Given the description of an element on the screen output the (x, y) to click on. 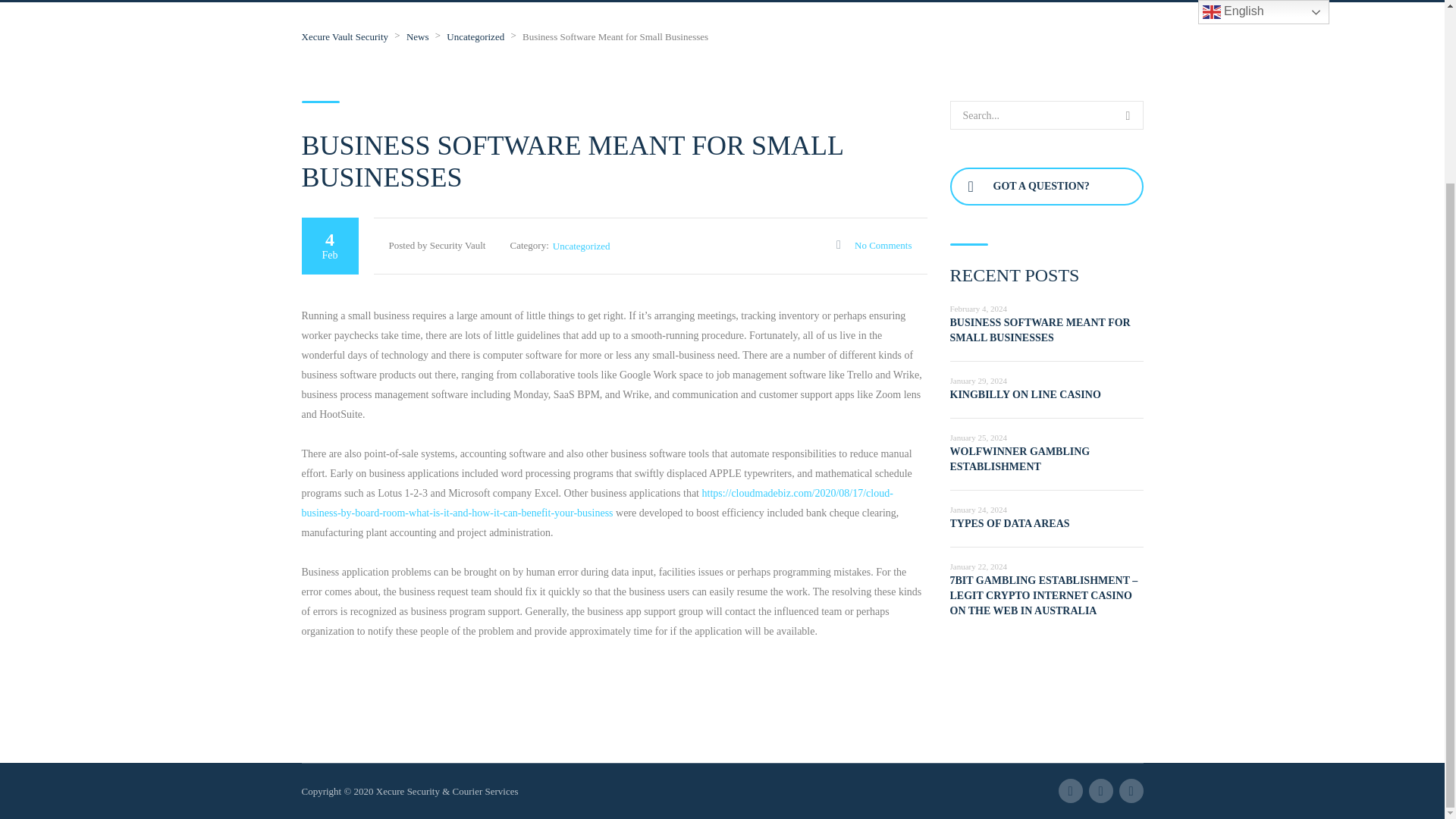
No Comments (873, 244)
KINGBILLY ON LINE CASINO (1024, 394)
Xecure Vault Security (344, 36)
Go to Xecure Vault Security. (344, 36)
TYPES OF DATA AREAS (1008, 523)
News (417, 36)
BUSINESS SOFTWARE MEANT FOR SMALL BUSINESSES (1039, 329)
GOT A QUESTION? (1045, 186)
Uncategorized (474, 36)
Go to the Uncategorized Category archives. (474, 36)
WOLFWINNER GAMBLING ESTABLISHMENT (1019, 458)
Go to News. (417, 36)
Uncategorized (581, 245)
